Given the description of an element on the screen output the (x, y) to click on. 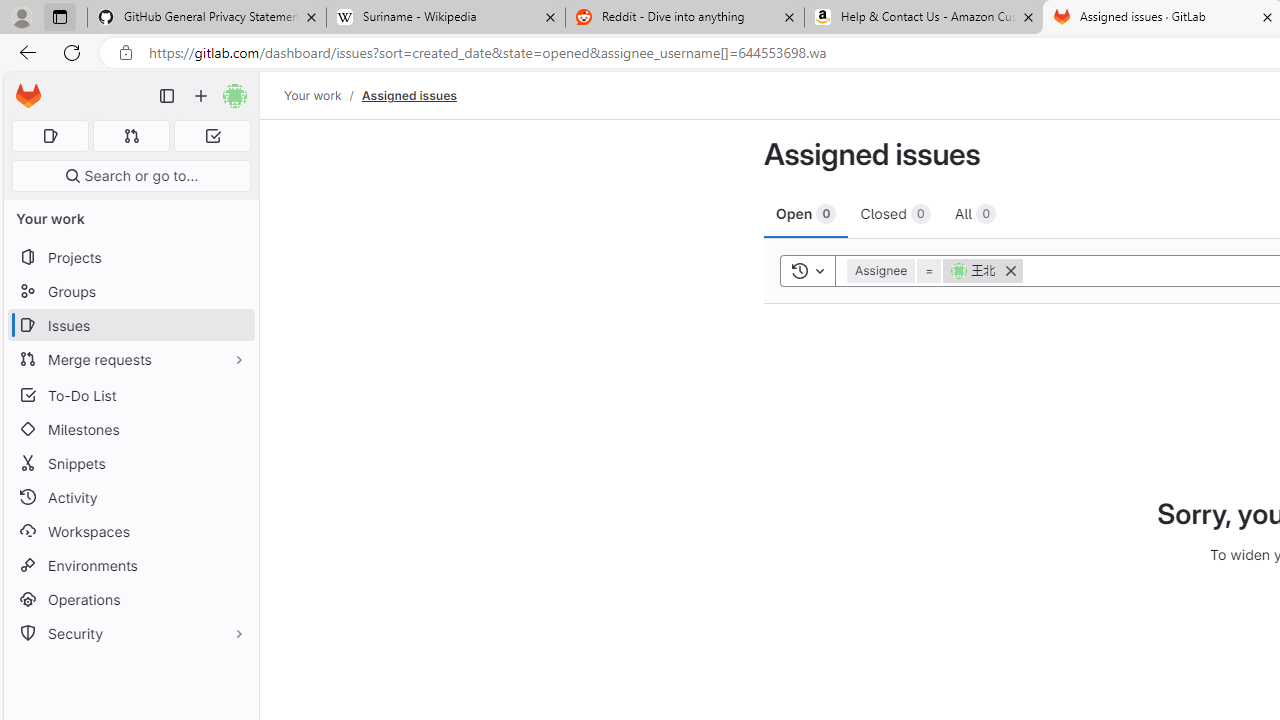
Security (130, 633)
Create new... (201, 96)
All 0 (975, 213)
Merge requests (130, 358)
Assigned issues (408, 95)
Your work/ (323, 95)
